Given the description of an element on the screen output the (x, y) to click on. 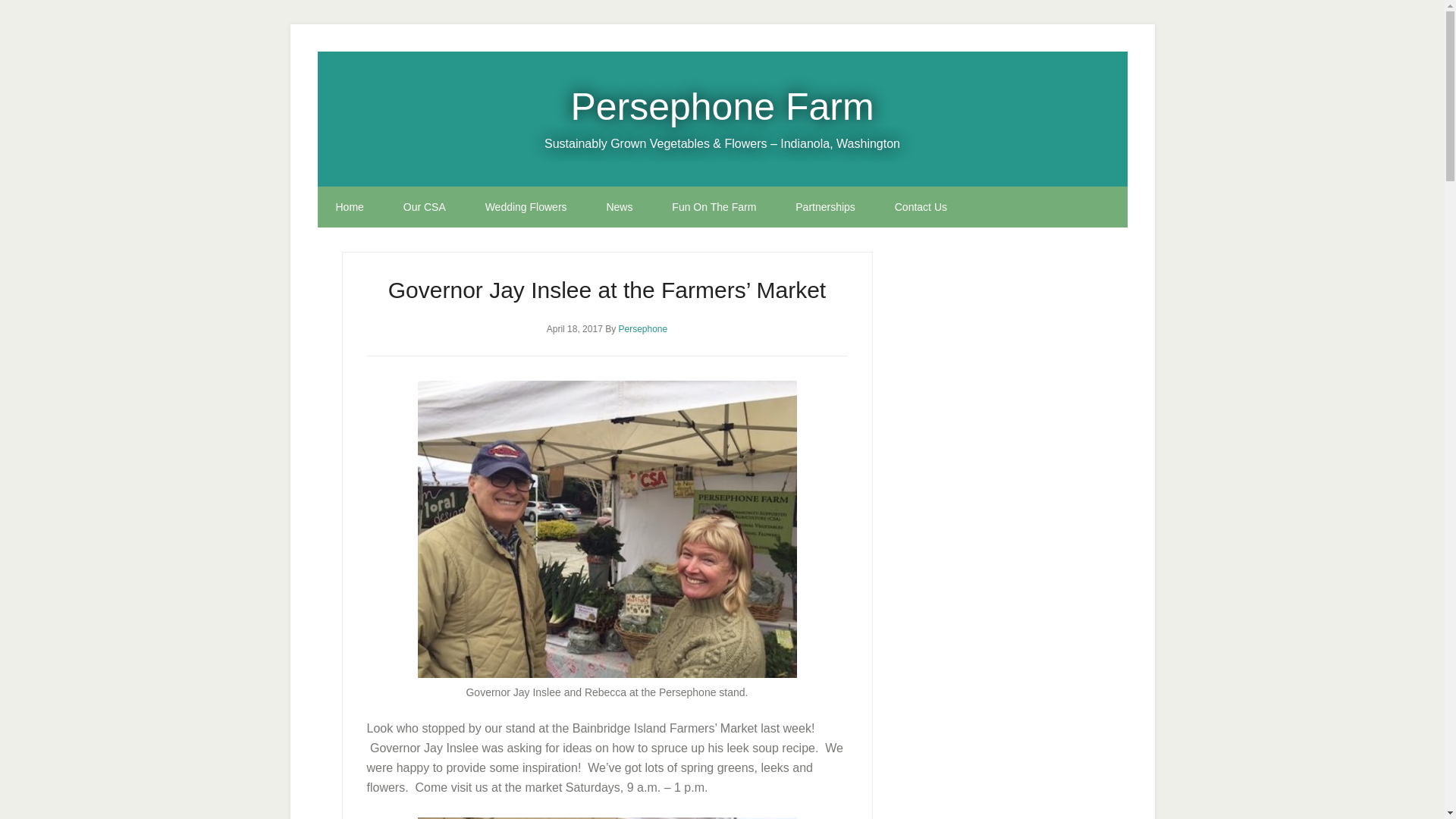
Our CSA (424, 206)
Contact Us (920, 206)
Persephone (643, 328)
News (619, 206)
Partnerships (825, 206)
Wedding Flowers (526, 206)
Home (349, 206)
Fun On The Farm (713, 206)
Persephone Farm (721, 106)
